Given the description of an element on the screen output the (x, y) to click on. 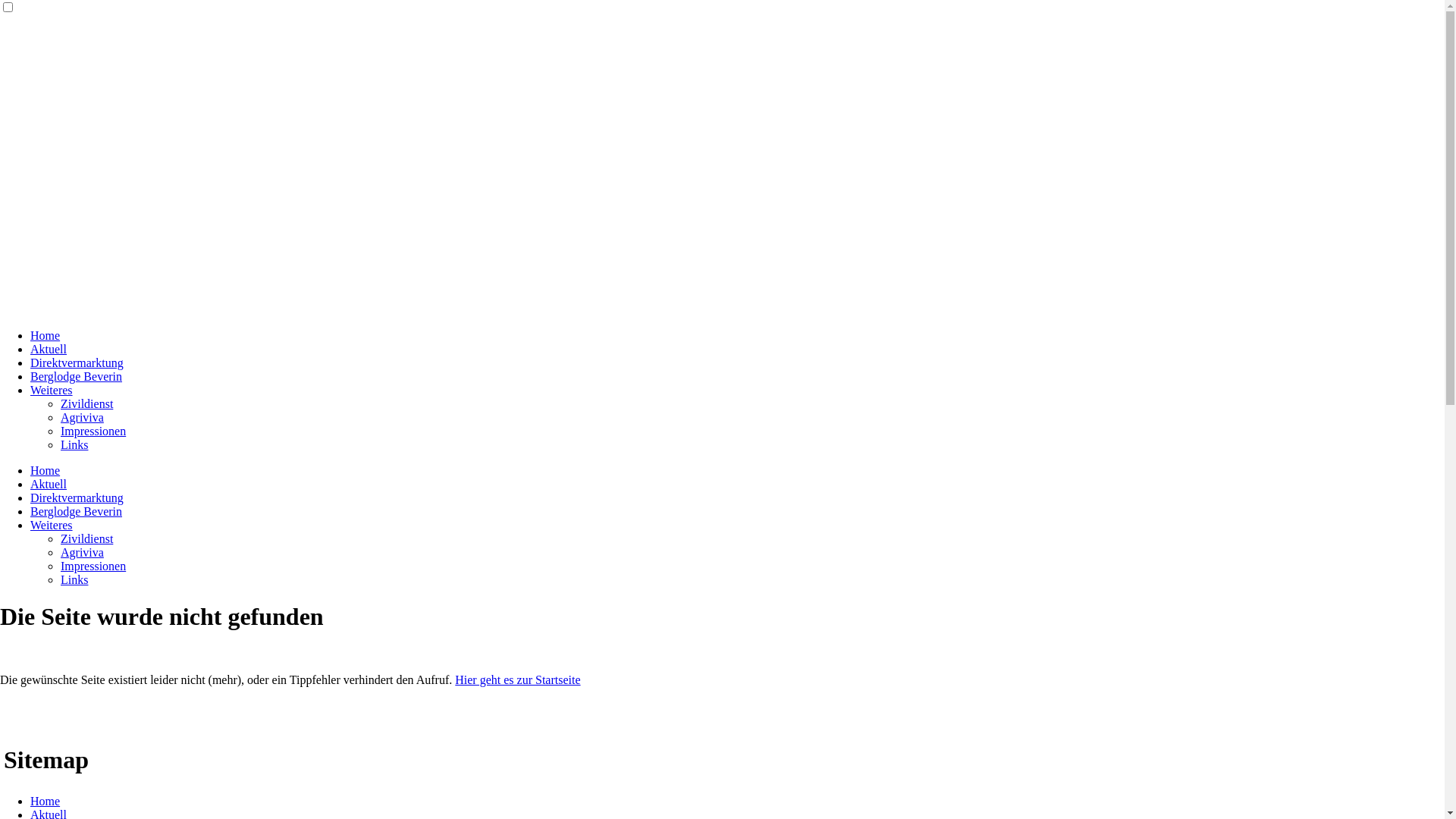
Berglodge Beverin Element type: text (76, 511)
Zivildienst Element type: text (86, 538)
Weiteres Element type: text (51, 524)
Aktuell Element type: text (48, 348)
Weiteres Element type: text (51, 389)
Direktvermarktung Element type: text (76, 497)
Home Element type: text (44, 470)
Direktvermarktung Element type: text (76, 362)
Links Element type: text (73, 444)
Berglodge Beverin Element type: text (76, 376)
Hier geht es zur Startseite Element type: text (517, 679)
Aktuell Element type: text (48, 483)
Zivildienst Element type: text (86, 403)
Home Element type: text (44, 800)
Agriviva Element type: text (81, 417)
Agriviva Element type: text (81, 552)
Home Element type: text (44, 335)
Impressionen Element type: text (92, 430)
Links Element type: text (73, 579)
Impressionen Element type: text (92, 565)
